Given the description of an element on the screen output the (x, y) to click on. 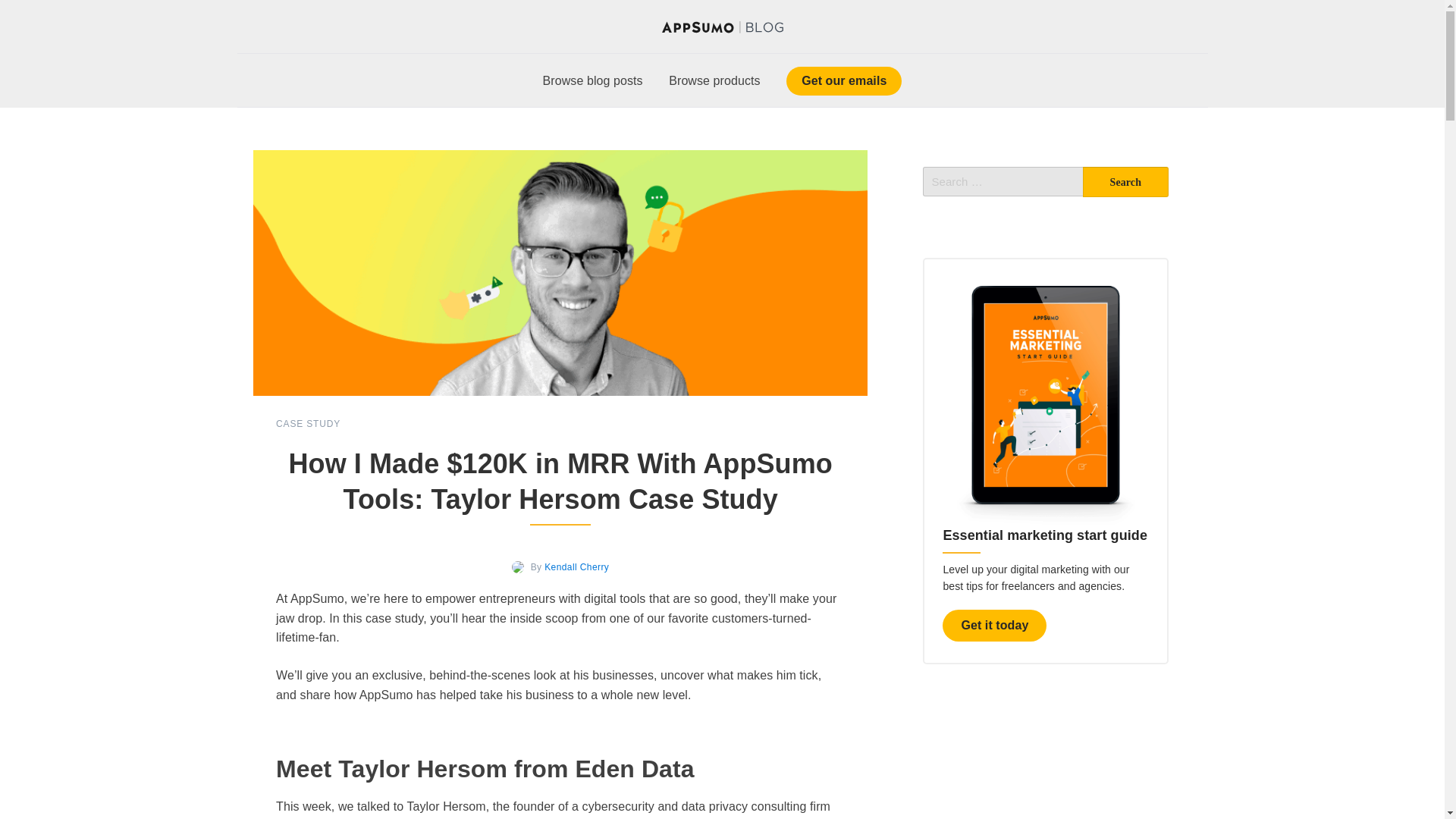
Search (1126, 182)
Get our emails (843, 80)
Kendall Cherry (576, 566)
Browse products (714, 80)
Search (1126, 182)
Search (1126, 182)
Get it today (994, 625)
Get our emails (843, 80)
Browse blog posts (592, 80)
